Given the description of an element on the screen output the (x, y) to click on. 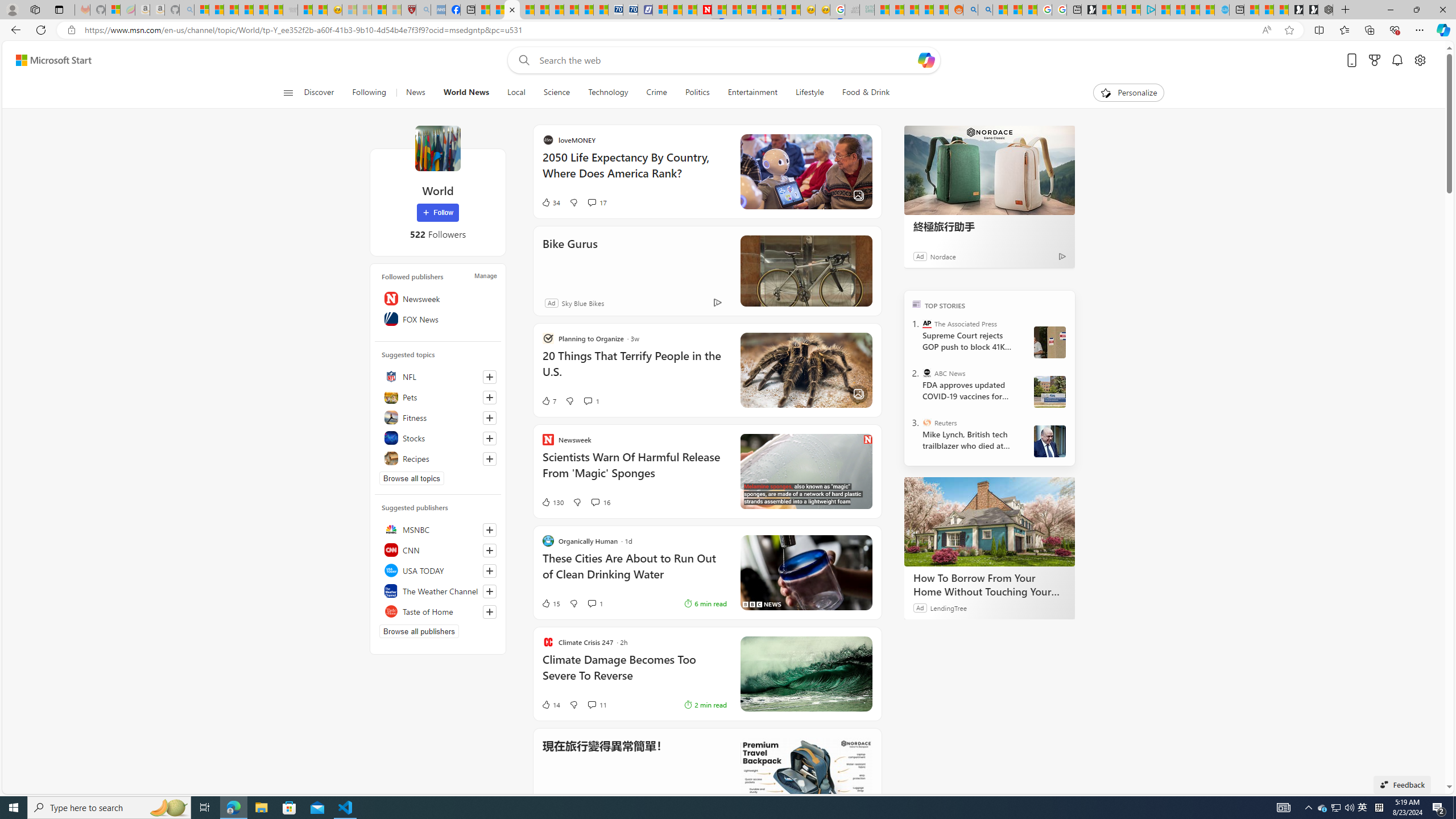
2050 Life Expectancy By Country, Where Does America Rank? (633, 171)
